Given the description of an element on the screen output the (x, y) to click on. 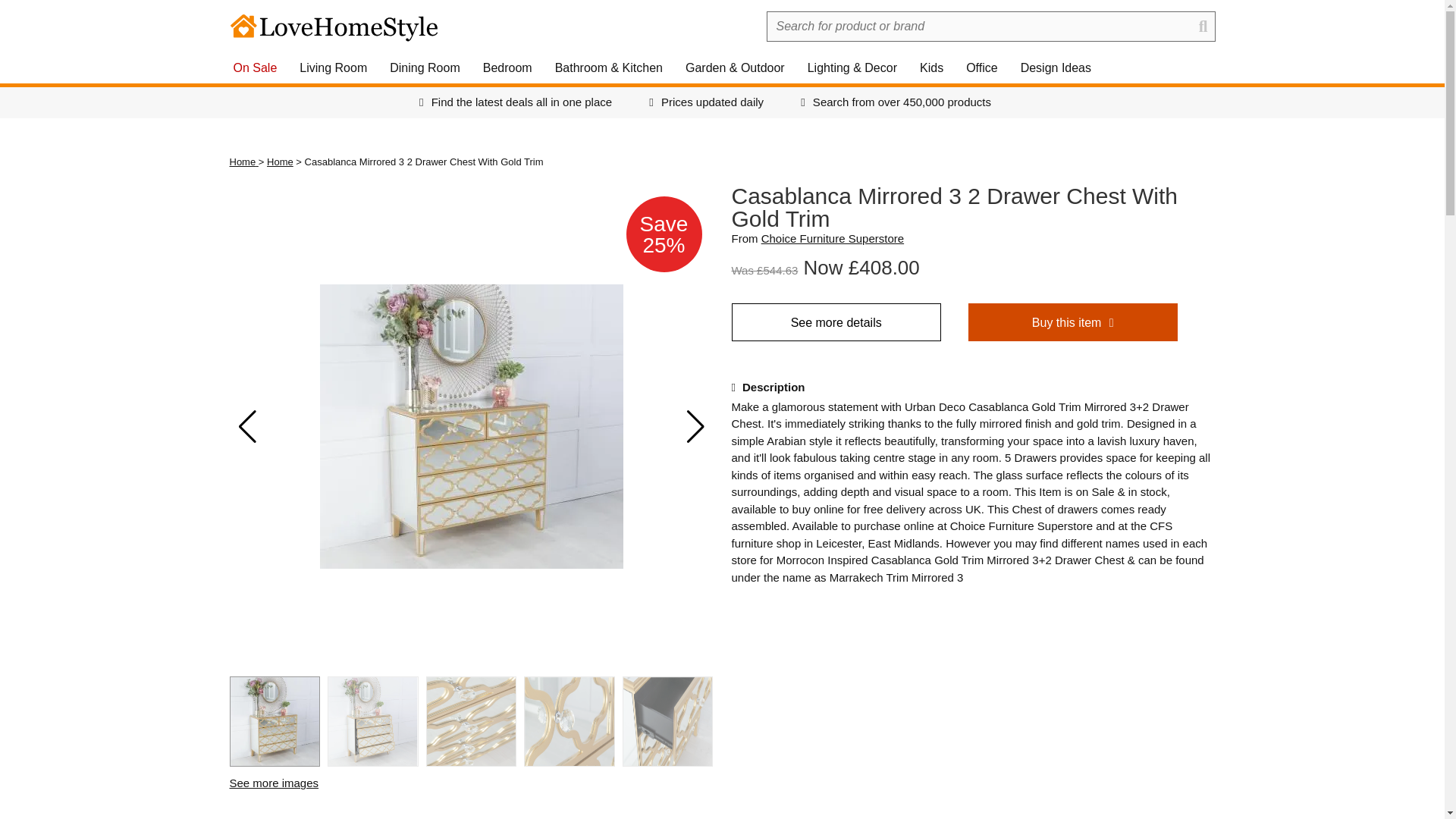
Go (15, 15)
On Sale (254, 68)
Living Room (333, 68)
